Given the description of an element on the screen output the (x, y) to click on. 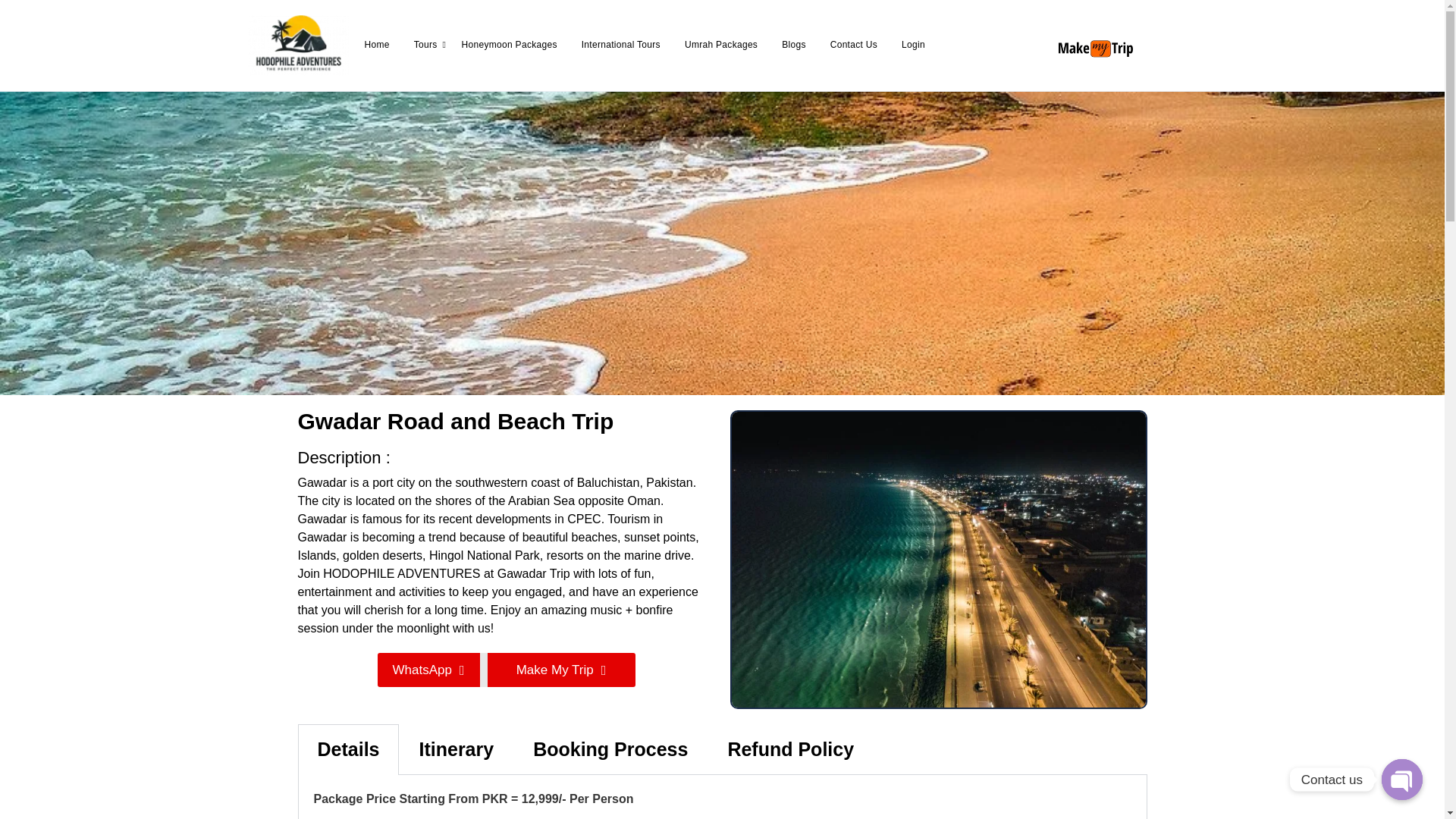
Login (913, 45)
Home (376, 45)
Contact Us (853, 45)
MAKE MY TRIP BUTTON (1096, 47)
Tours (425, 45)
Gwadar-Marine-Drive-Alpas-Travels-Photo-Slider-1 (938, 559)
Umrah Packages (721, 45)
Honeymoon Packages (509, 45)
Blogs (794, 45)
International Tours (620, 45)
